Given the description of an element on the screen output the (x, y) to click on. 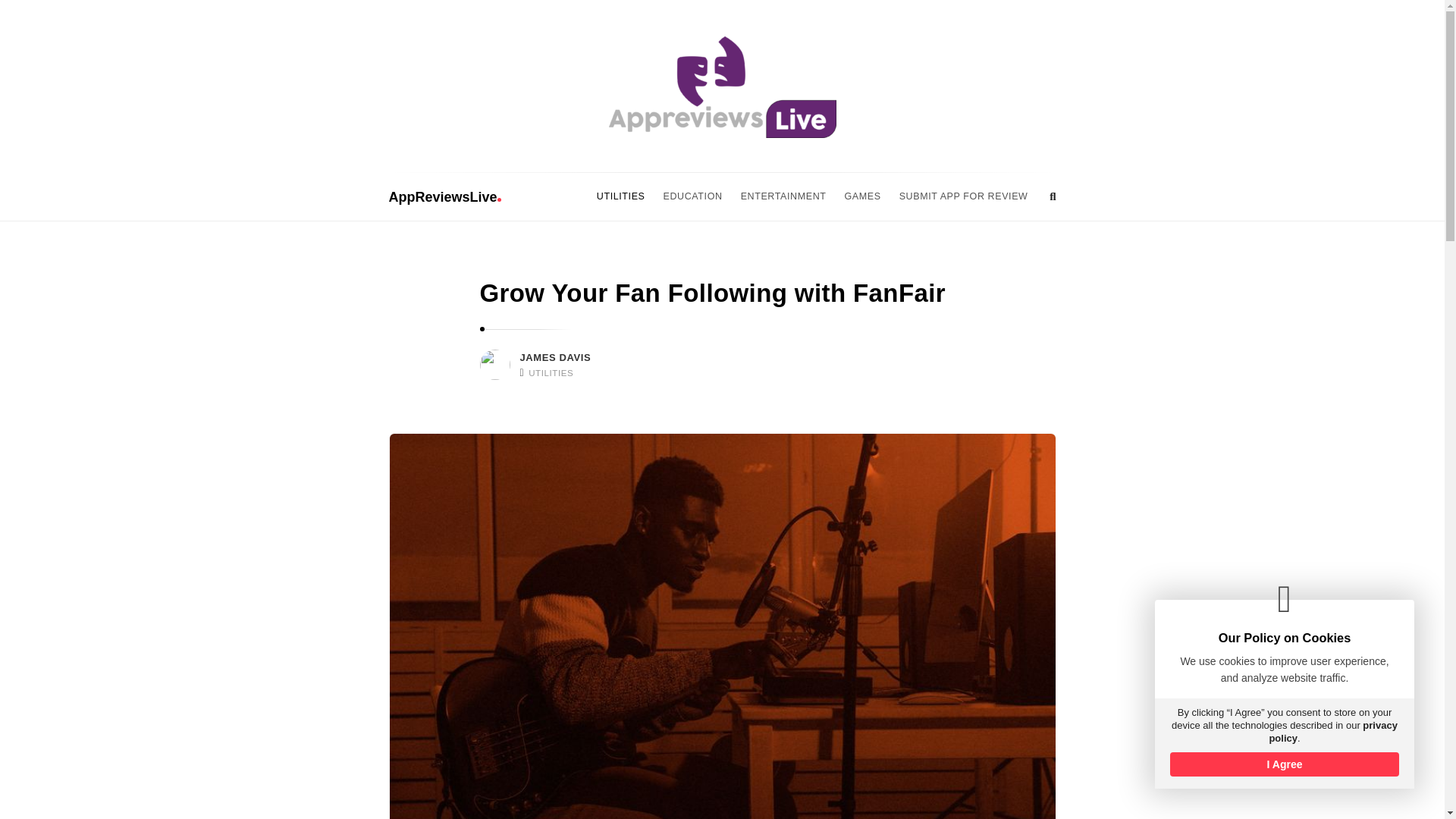
SUBMIT APP FOR REVIEW (962, 196)
JAMES DAVIS (555, 357)
ENTERTAINMENT (783, 196)
UTILITIES (620, 196)
privacy policy (1332, 731)
AppReviewsLive (721, 87)
EDUCATION (692, 196)
UTILITIES (550, 373)
GAMES (862, 196)
AppReviewsLive (444, 196)
